Given the description of an element on the screen output the (x, y) to click on. 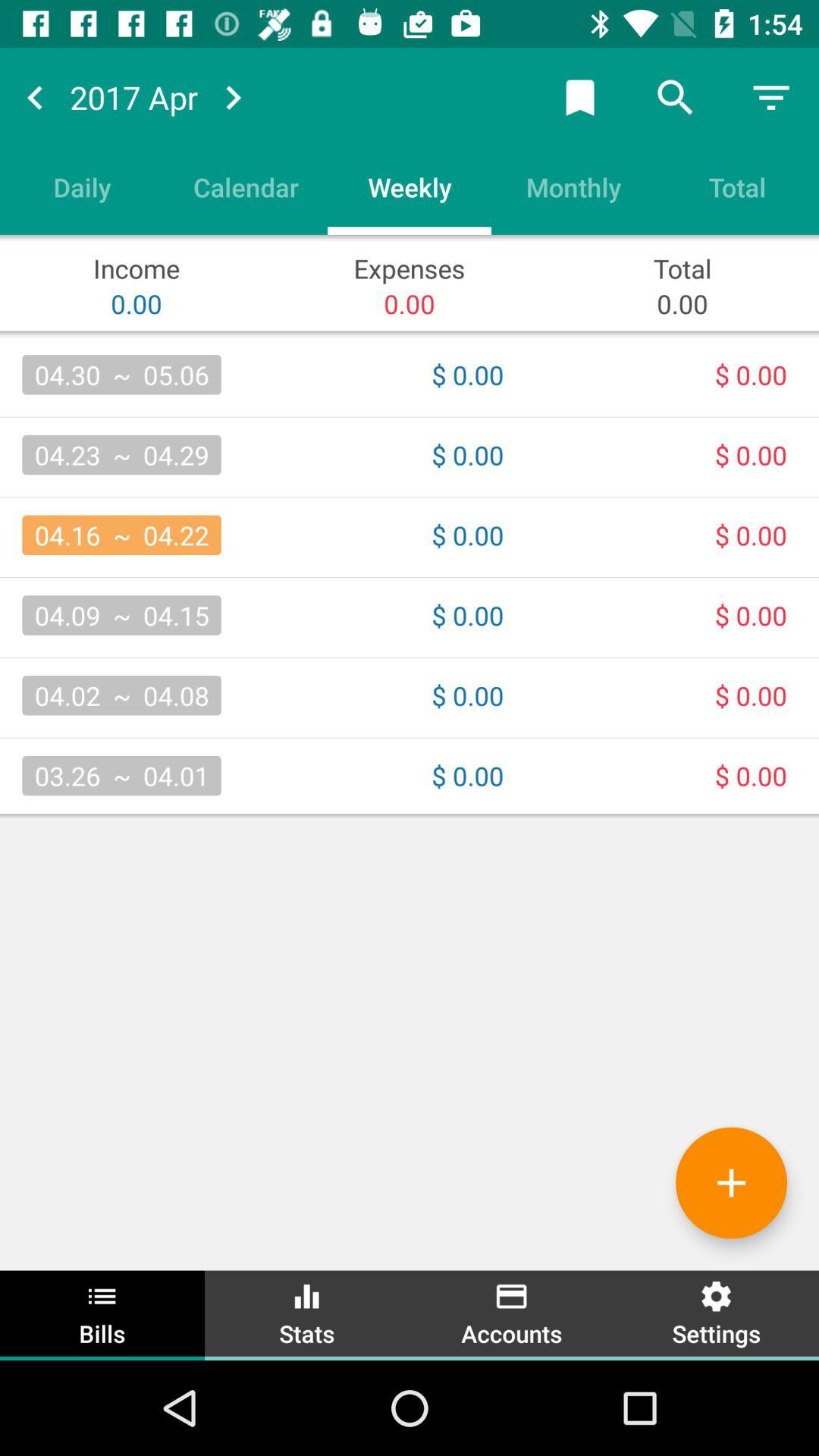
bookmark the item (579, 97)
